Given the description of an element on the screen output the (x, y) to click on. 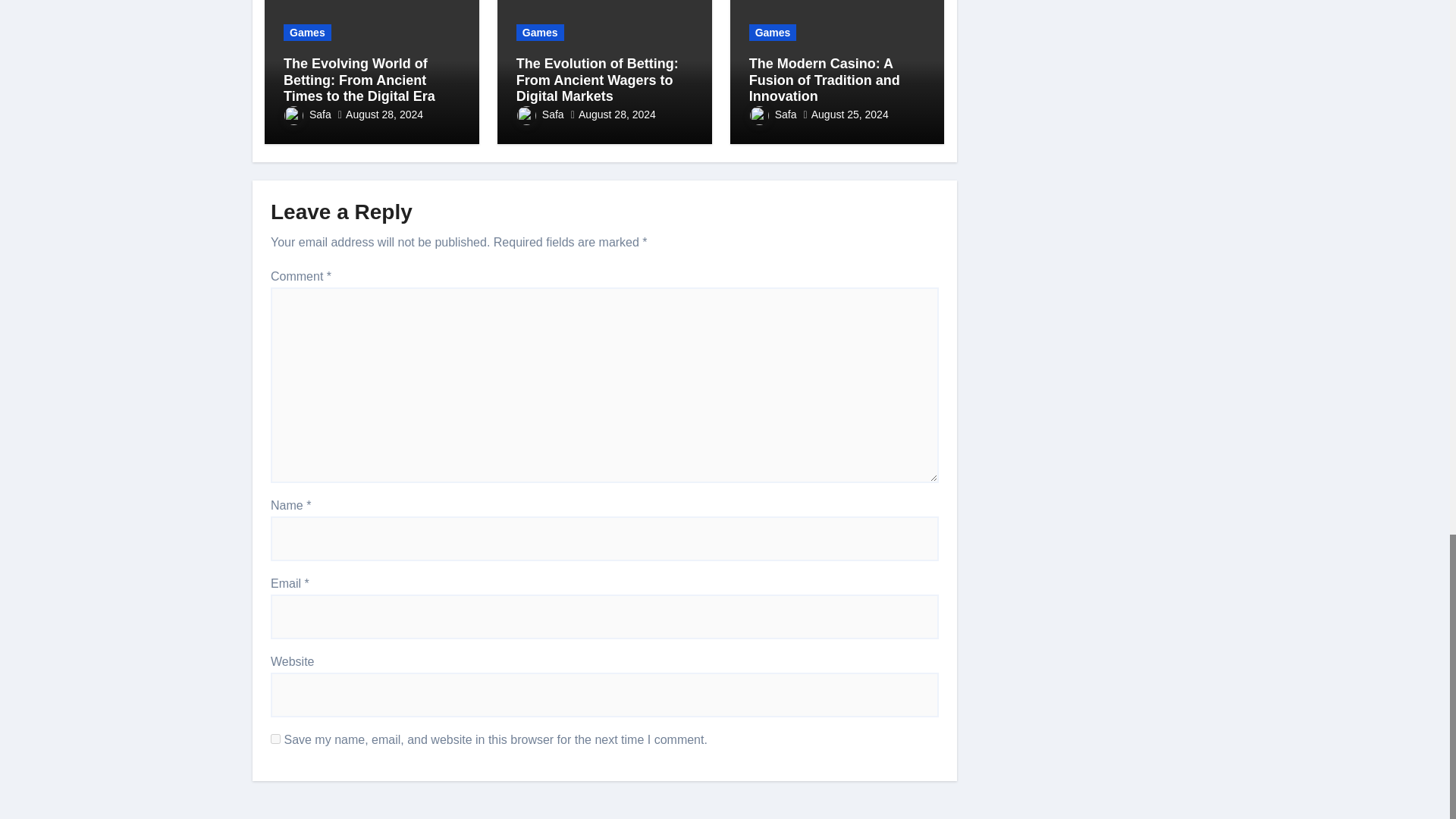
Games (307, 32)
yes (275, 738)
